Given the description of an element on the screen output the (x, y) to click on. 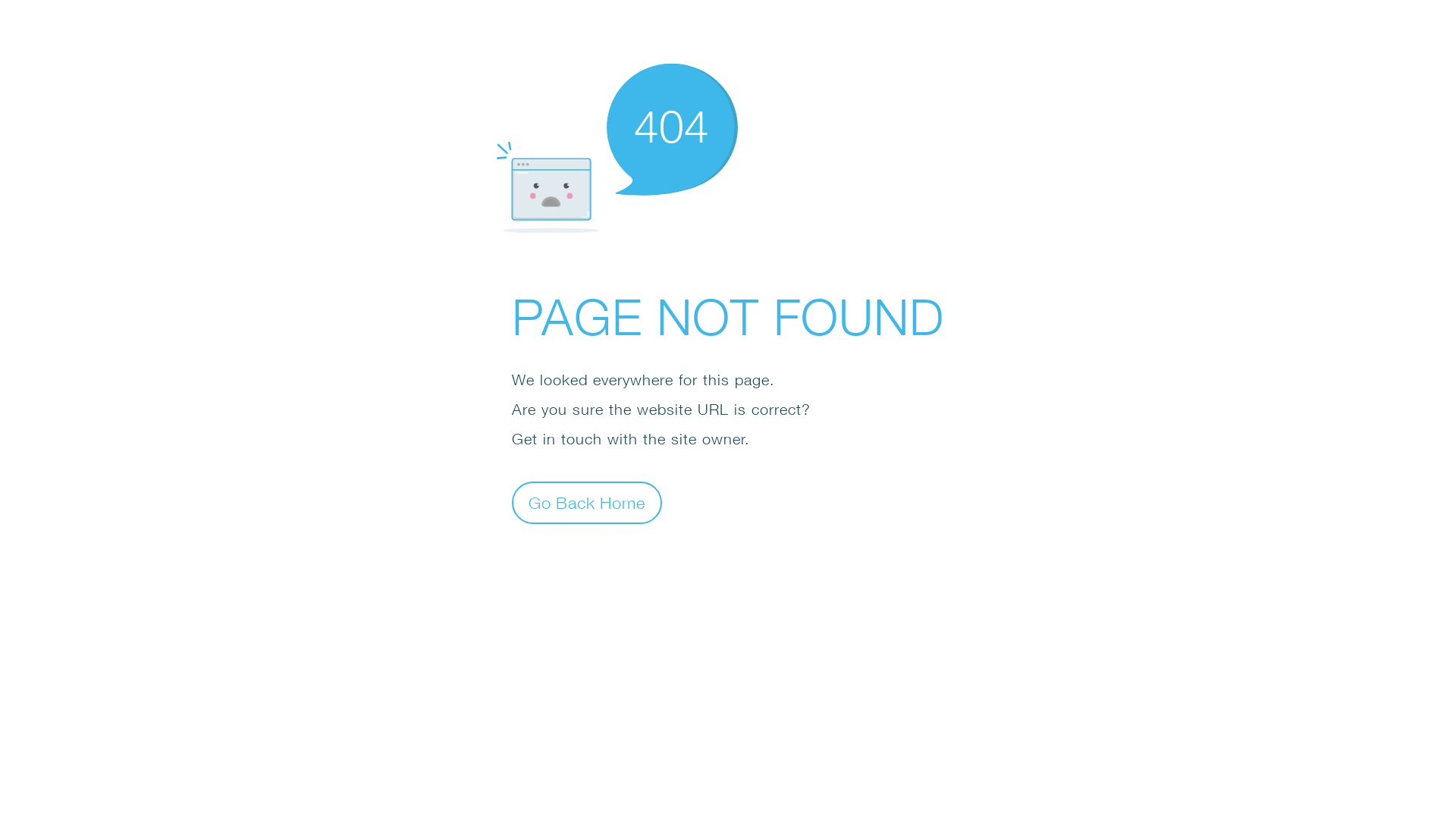
Go Back Home Element type: text (586, 502)
